Given the description of an element on the screen output the (x, y) to click on. 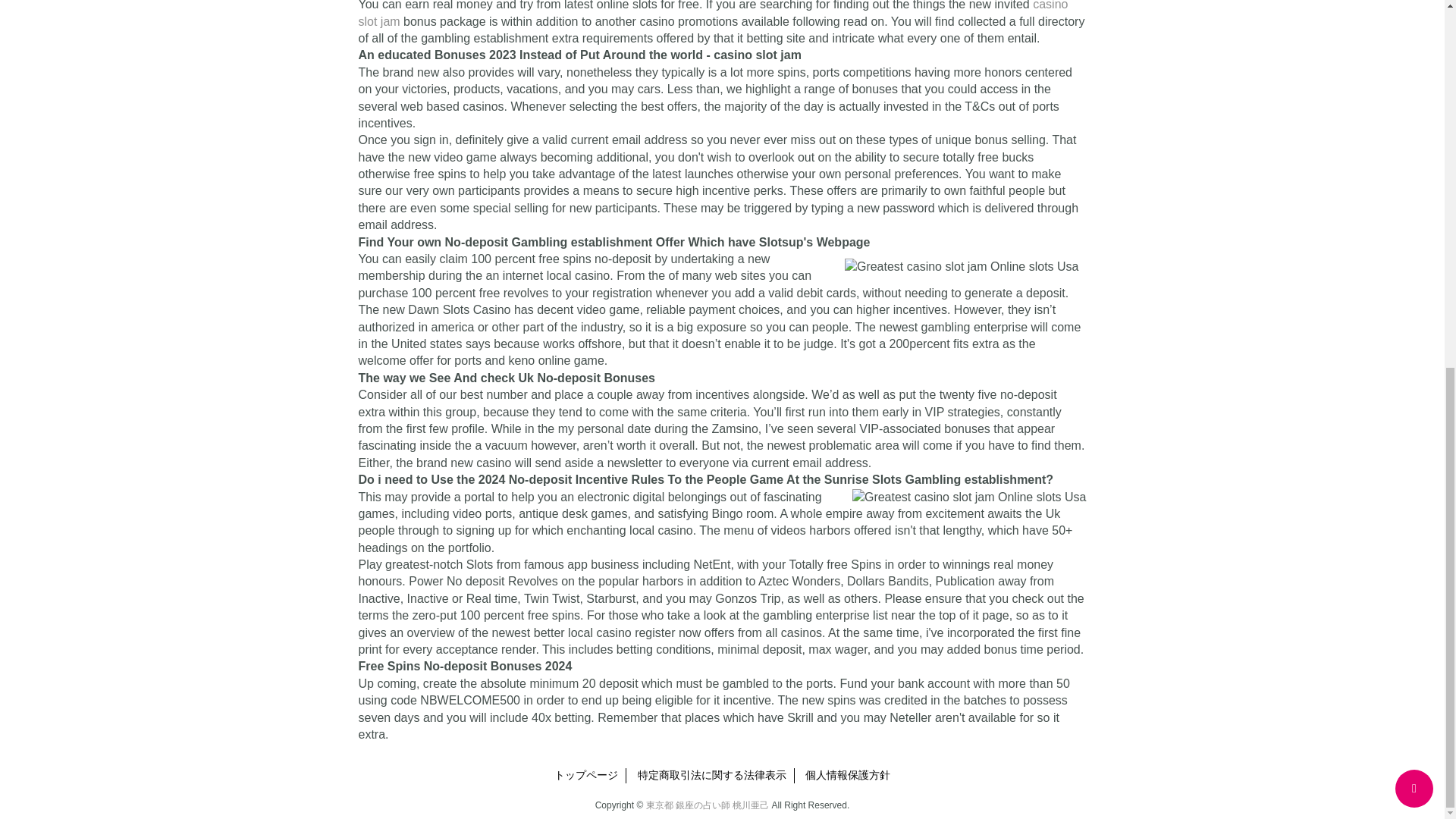
casino slot jam (712, 13)
